Given the description of an element on the screen output the (x, y) to click on. 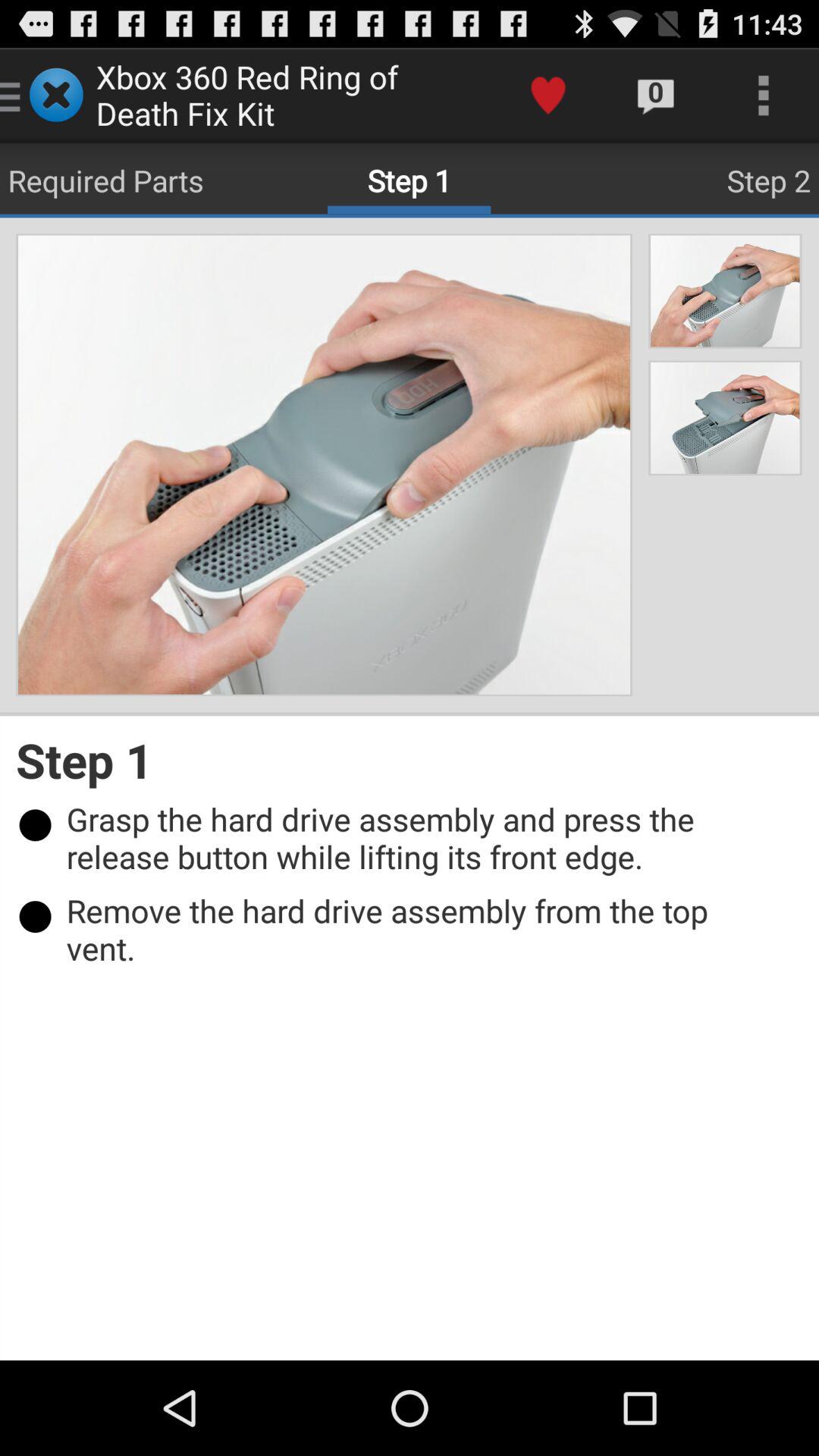
click step 1 item (409, 759)
